Given the description of an element on the screen output the (x, y) to click on. 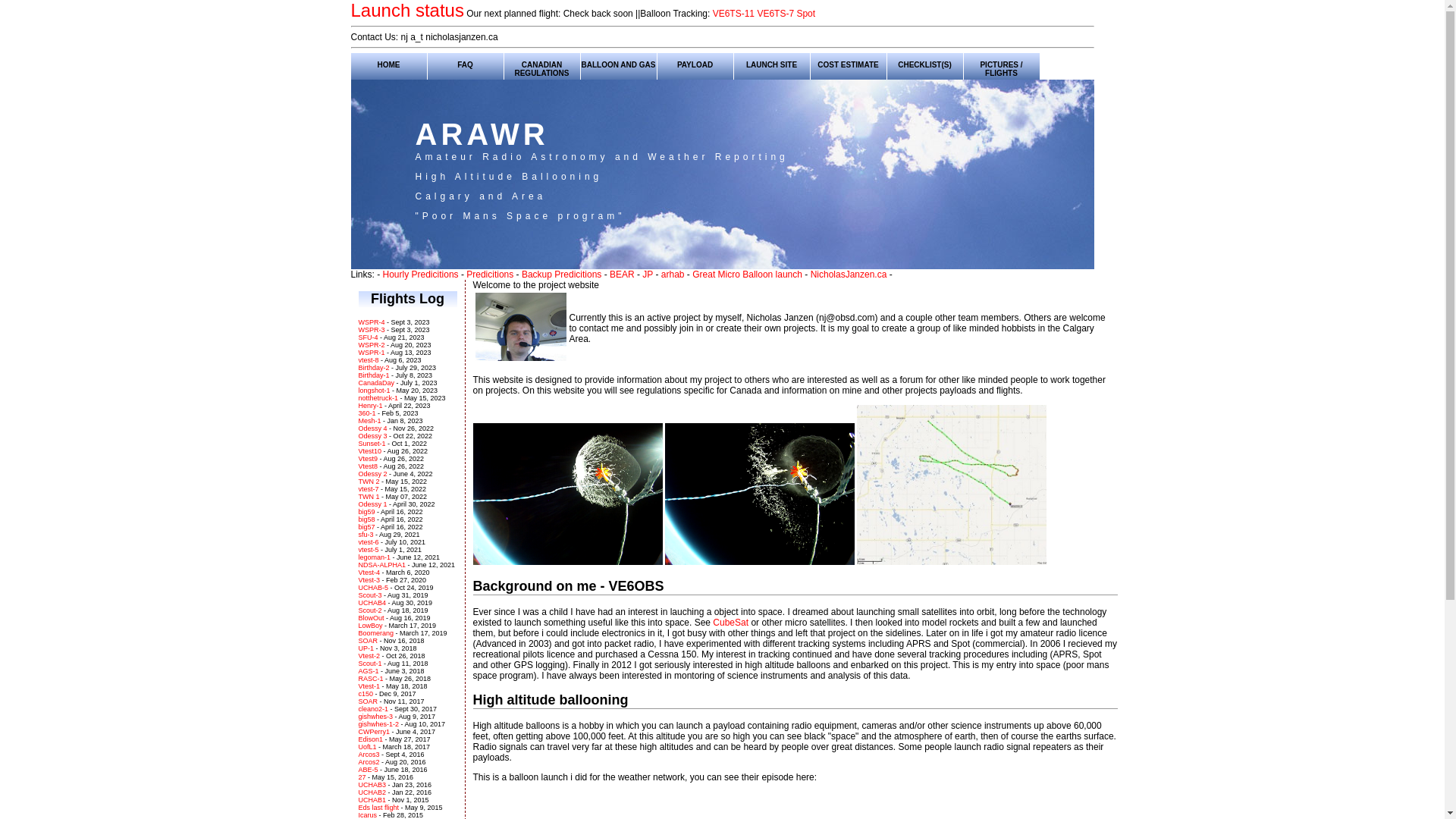
sfu-3 Element type: text (365, 534)
WSPR-3 Element type: text (370, 329)
longshot-1 Element type: text (373, 390)
NDSA-ALPHA1 Element type: text (381, 564)
PAYLOAD Element type: text (694, 64)
PICTURES / FLIGHTS Element type: text (1000, 64)
Vtest-1 Element type: text (368, 686)
vtest-8 Element type: text (367, 360)
Vtest-4 Element type: text (368, 572)
gishwhes-1-2 Element type: text (377, 724)
Scout-1 Element type: text (369, 663)
Arcos3 Element type: text (369, 754)
BEAR Element type: text (621, 274)
Odessy 3 Element type: text (371, 435)
CubeSat Element type: text (730, 622)
Arcos2 Element type: text (369, 761)
Scout-3 Element type: text (369, 595)
Backup Predicitions Element type: text (561, 274)
WSPR-2 Element type: text (370, 344)
SFU-4 Element type: text (367, 337)
VE6TS-11 Element type: text (733, 13)
COST ESTIMATE Element type: text (847, 64)
Eds last flight Element type: text (377, 807)
TWN 2 Element type: text (368, 481)
Hourly Predicitions Element type: text (420, 274)
Birthday-2 Element type: text (373, 367)
UCHAB4 Element type: text (371, 602)
BlowOut Element type: text (370, 617)
Odessy 2 Element type: text (371, 473)
Scout-2 Element type: text (369, 610)
Spot Element type: text (805, 13)
arhab Element type: text (672, 274)
cleano2-1 Element type: text (372, 708)
WSPR-4 Element type: text (370, 322)
notthetruck-1 Element type: text (377, 397)
vtest-7 Element type: text (367, 488)
SOAR Element type: text (367, 640)
VE6TS-7 Element type: text (774, 13)
360-1 Element type: text (366, 413)
Vtest9 Element type: text (367, 458)
Vtest-2 Element type: text (368, 655)
RASC-1 Element type: text (369, 678)
LowBoy Element type: text (369, 625)
vtest-5 Element type: text (367, 549)
TWN 1 Element type: text (368, 496)
big57 Element type: text (365, 526)
Birthday-1 Element type: text (373, 375)
UofL1 Element type: text (367, 746)
Sunset-1 Element type: text (371, 443)
HOME Element type: text (388, 64)
Odessy 1 Element type: text (371, 504)
vtest-6 Element type: text (367, 542)
CHECKLIST(S) Element type: text (925, 64)
UCHAB2 Element type: text (372, 792)
Odessy 4 Element type: text (371, 428)
Mesh-1 Element type: text (368, 420)
CWPerry1 Element type: text (374, 731)
c150 Element type: text (365, 693)
Vtest10 Element type: text (369, 451)
gishwhes-3 Element type: text (374, 716)
Vtest8 Element type: text (367, 466)
CanadaDay Element type: text (375, 382)
SOAR Element type: text (367, 701)
big59 Element type: text (365, 511)
WSPR-1 Element type: text (370, 352)
UCHAB3 Element type: text (372, 784)
UCHAB-5 Element type: text (372, 587)
Predicitions Element type: text (489, 274)
FAQ Element type: text (465, 64)
LAUNCH SITE Element type: text (771, 64)
AGS-1 Element type: text (367, 670)
Henry-1 Element type: text (369, 405)
legoman-1 Element type: text (373, 557)
Great Micro Balloon launch Element type: text (747, 274)
Vtest-3 Element type: text (368, 579)
Edison1 Element type: text (370, 739)
CANADIAN REGULATIONS Element type: text (541, 64)
JP Element type: text (647, 274)
UP-1 Element type: text (365, 648)
NicholasJanzen.ca Element type: text (848, 274)
big58 Element type: text (365, 519)
Boomerang Element type: text (375, 633)
BALLOON AND GAS Element type: text (618, 64)
ABE-5 Element type: text (368, 769)
UCHAB1 Element type: text (372, 799)
27 Element type: text (362, 777)
